Given the description of an element on the screen output the (x, y) to click on. 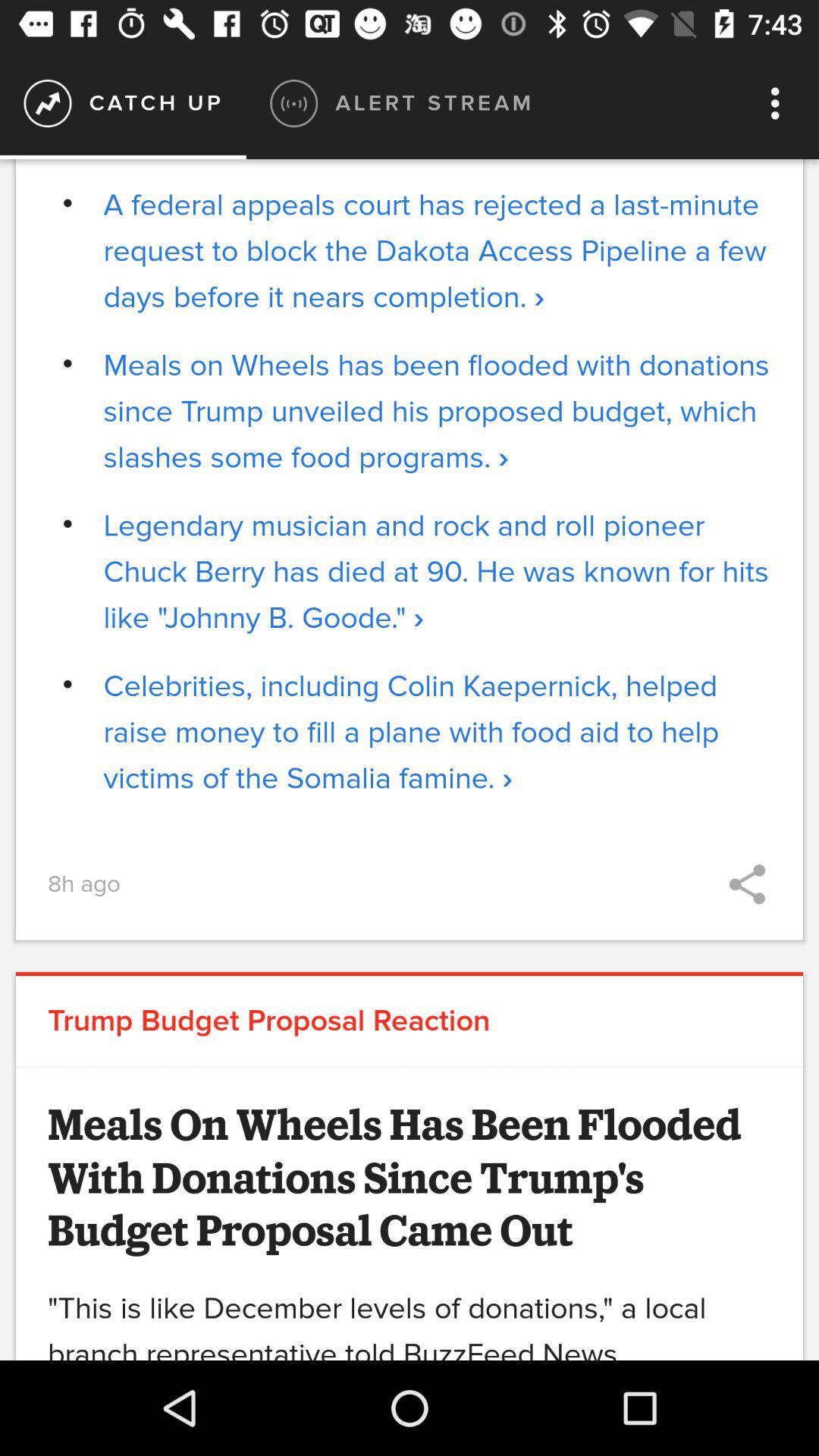
click the icon below the meals on wheels icon (437, 571)
